Given the description of an element on the screen output the (x, y) to click on. 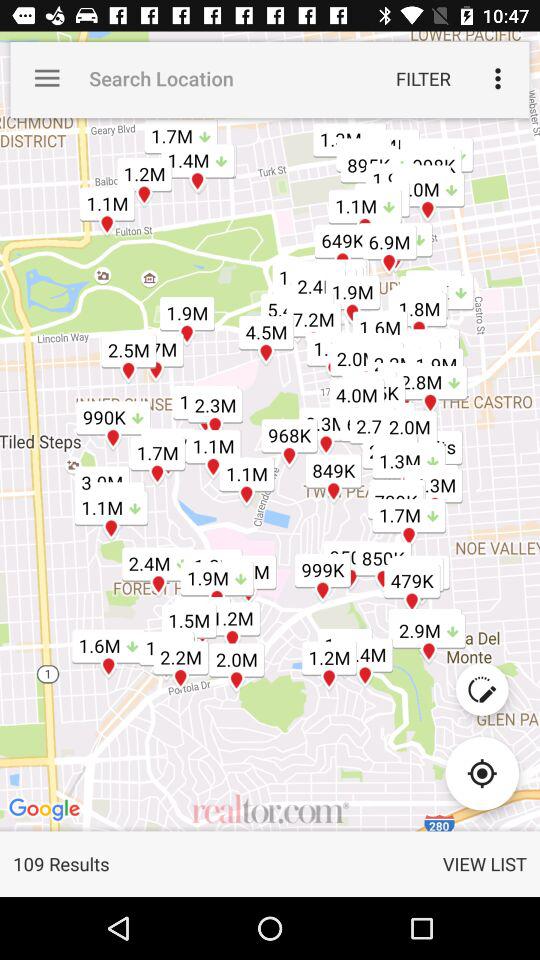
flip to the filter icon (423, 78)
